Given the description of an element on the screen output the (x, y) to click on. 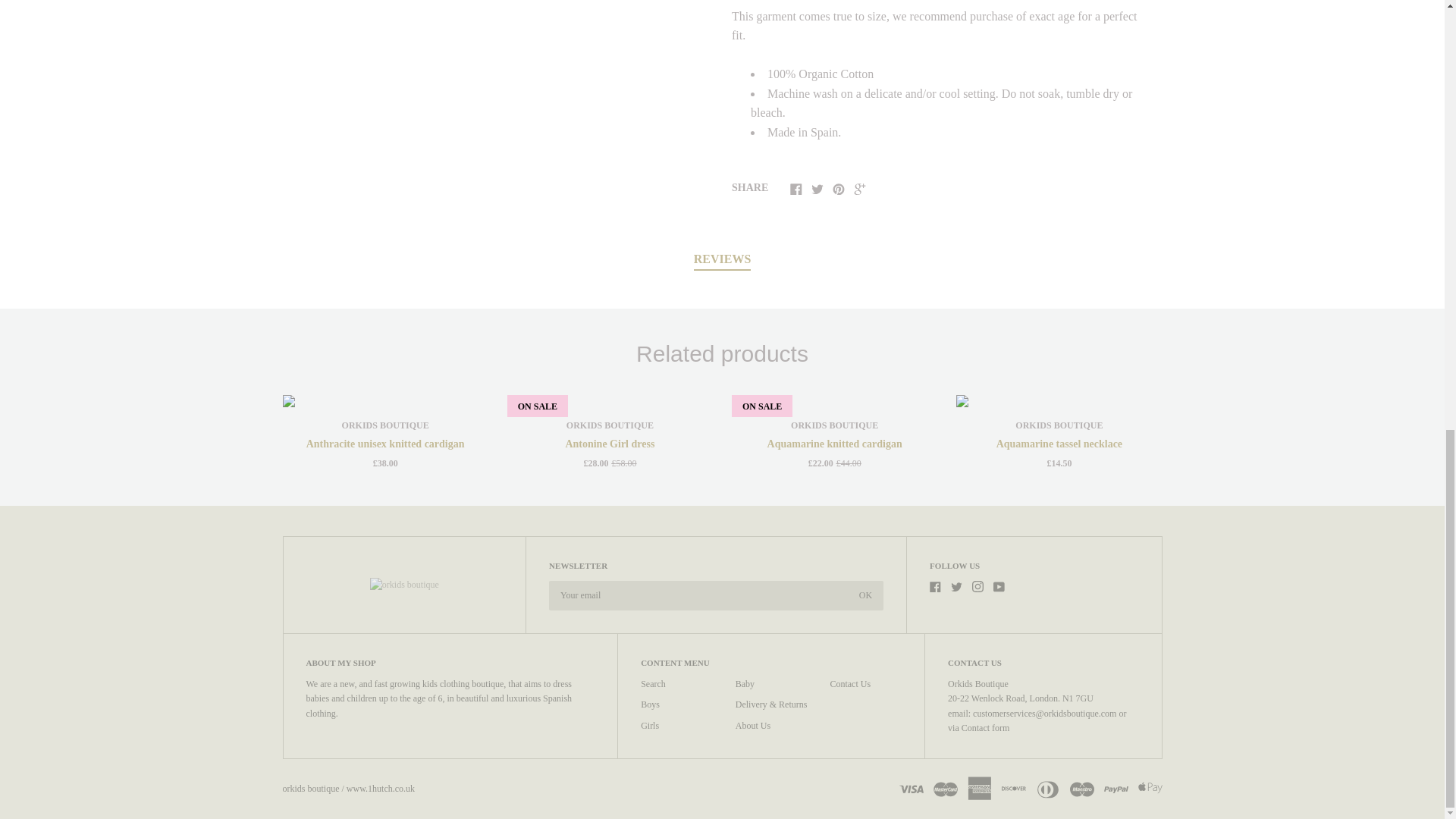
Diners (1047, 787)
Twitter (956, 586)
MasterCard (944, 787)
Facebook (796, 188)
Facebook (935, 586)
YouTube (998, 586)
Twitter (817, 188)
AMEX (979, 787)
Discover (1013, 787)
OK (865, 595)
